Given the description of an element on the screen output the (x, y) to click on. 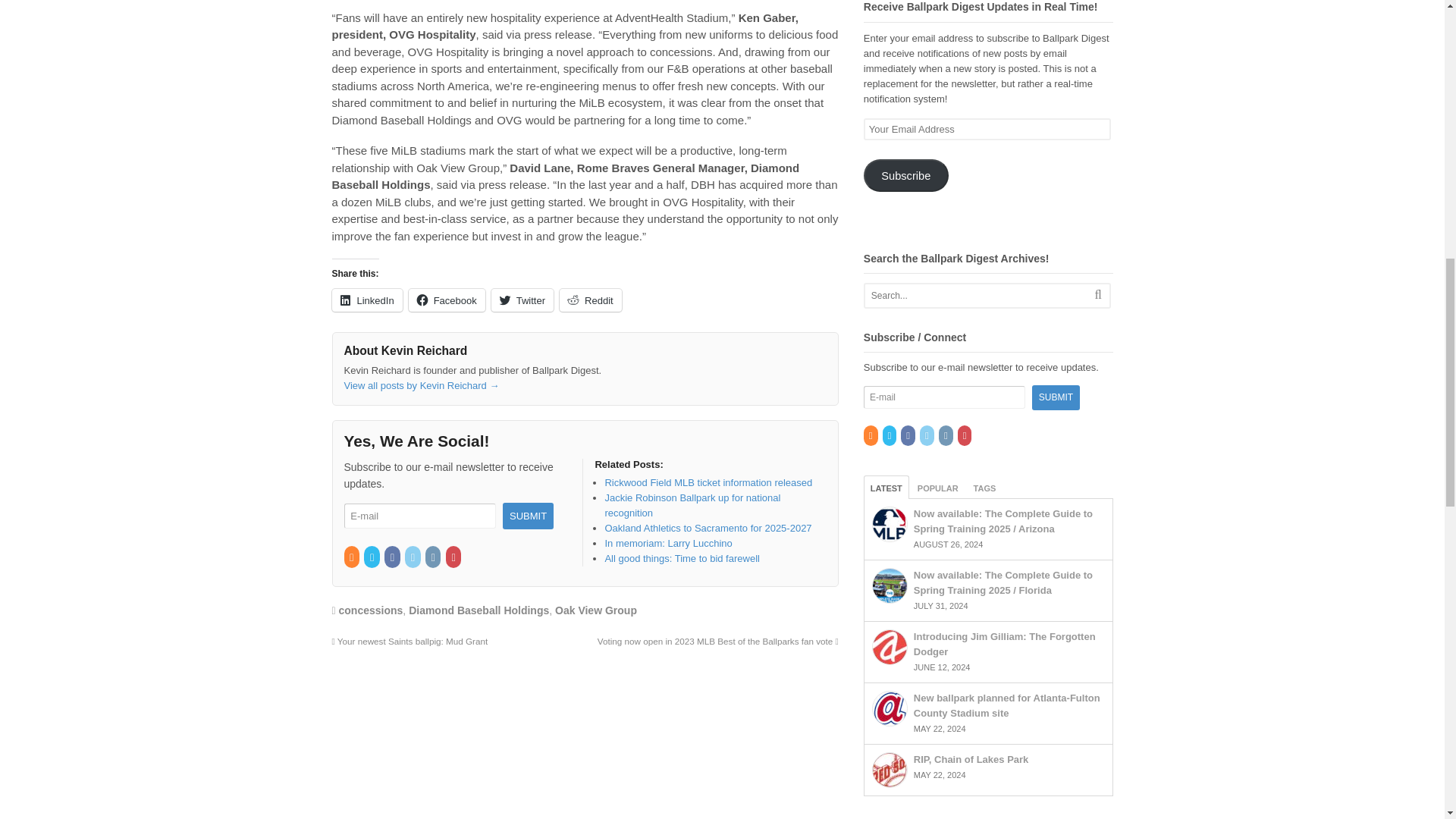
Submit (527, 515)
E-mail (419, 515)
Facebook (392, 557)
LinkedIn (413, 557)
Click to share on Facebook (446, 300)
Click to share on LinkedIn (367, 300)
Submit (1056, 397)
Instagram (433, 557)
Search... (974, 295)
Click to share on Twitter (522, 300)
